Given the description of an element on the screen output the (x, y) to click on. 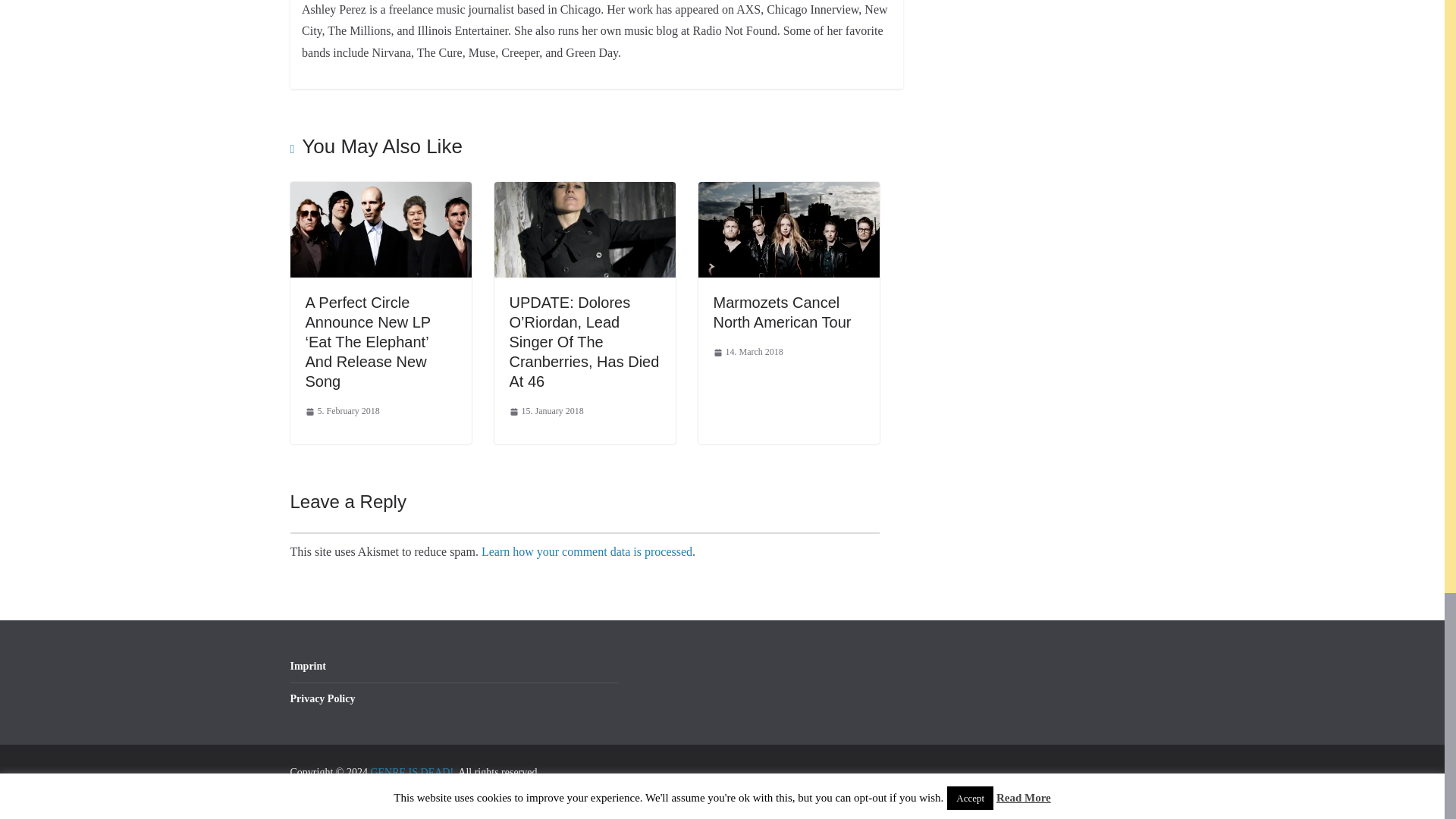
5. February 2018 (341, 411)
